Given the description of an element on the screen output the (x, y) to click on. 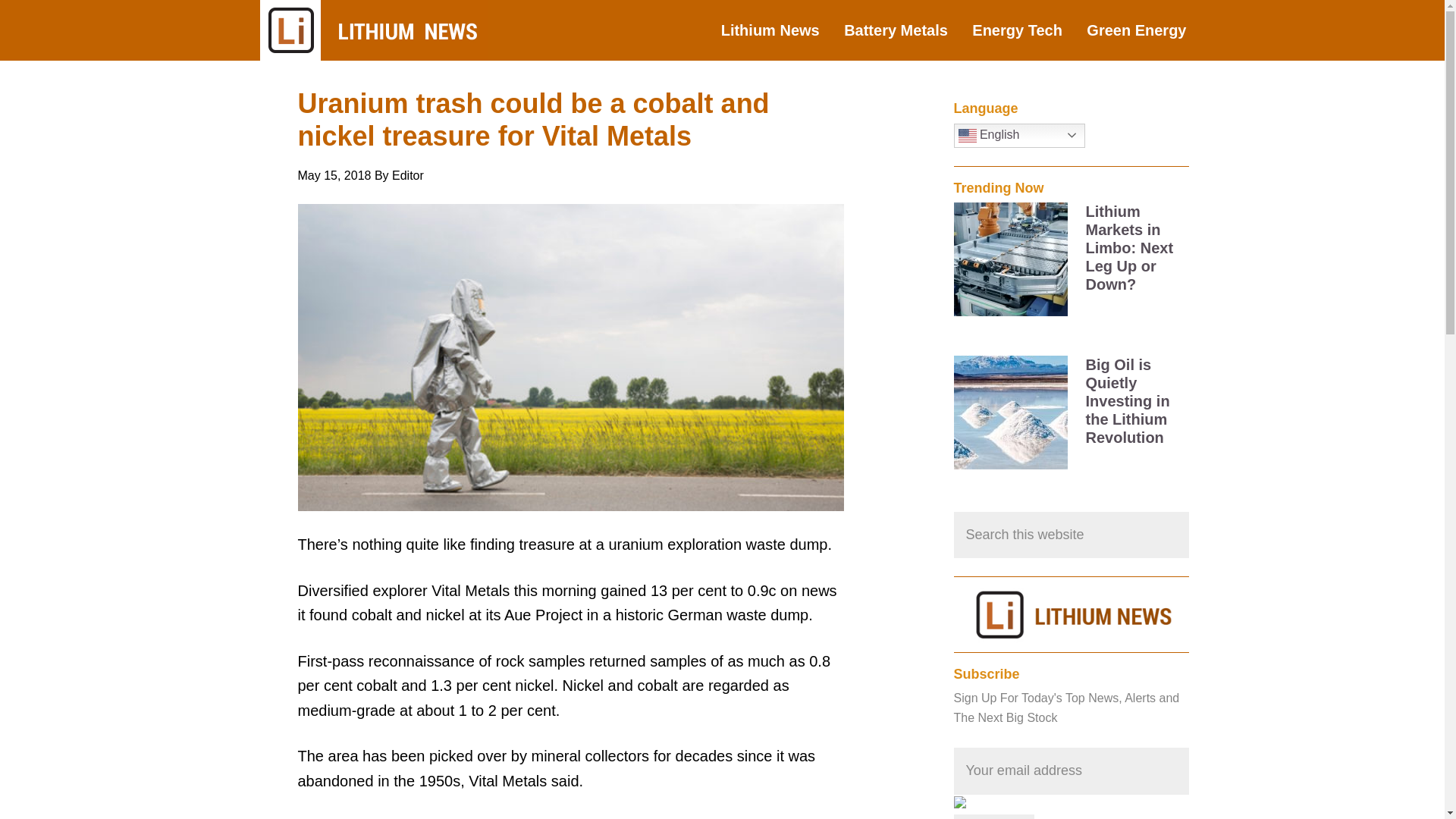
Green Energy (1146, 30)
Lithium News (780, 30)
Sign up (994, 816)
Lithium News (372, 30)
Energy Tech (1027, 30)
Lithium Markets in Limbo: Next Leg Up or Down? (1129, 247)
Sign up (994, 816)
Big Oil is Quietly Investing in the Lithium Revolution (1128, 400)
English (1018, 135)
Battery Metals (906, 30)
